Given the description of an element on the screen output the (x, y) to click on. 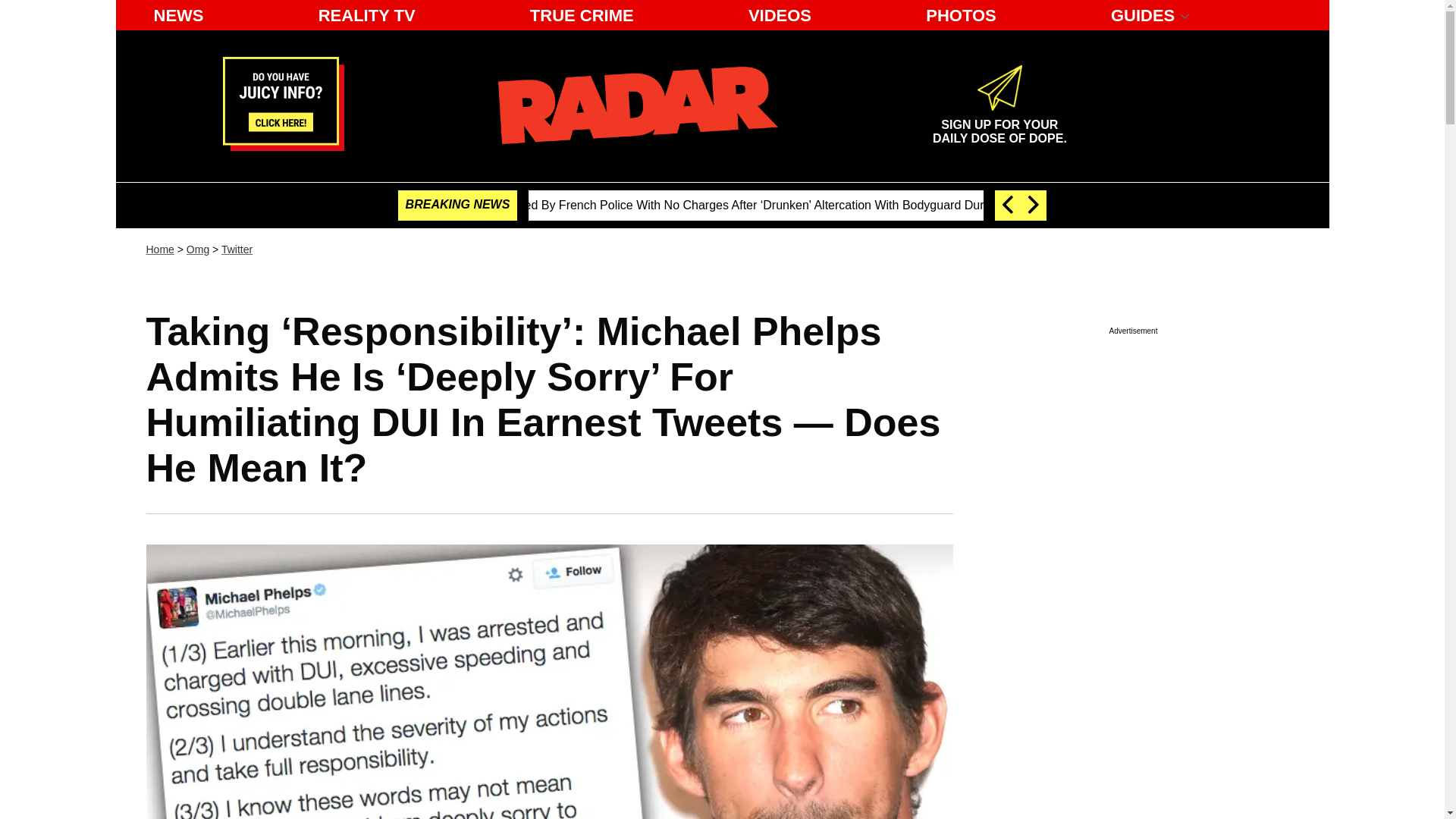
NEWS (178, 15)
Sign up for your daily dose of dope. (999, 124)
TRUE CRIME (582, 15)
PHOTOS (961, 15)
REALITY TV (367, 15)
Twitter (236, 249)
VIDEOS (779, 15)
Omg (197, 249)
Email us your tip (282, 146)
Radar Online (637, 105)
